Given the description of an element on the screen output the (x, y) to click on. 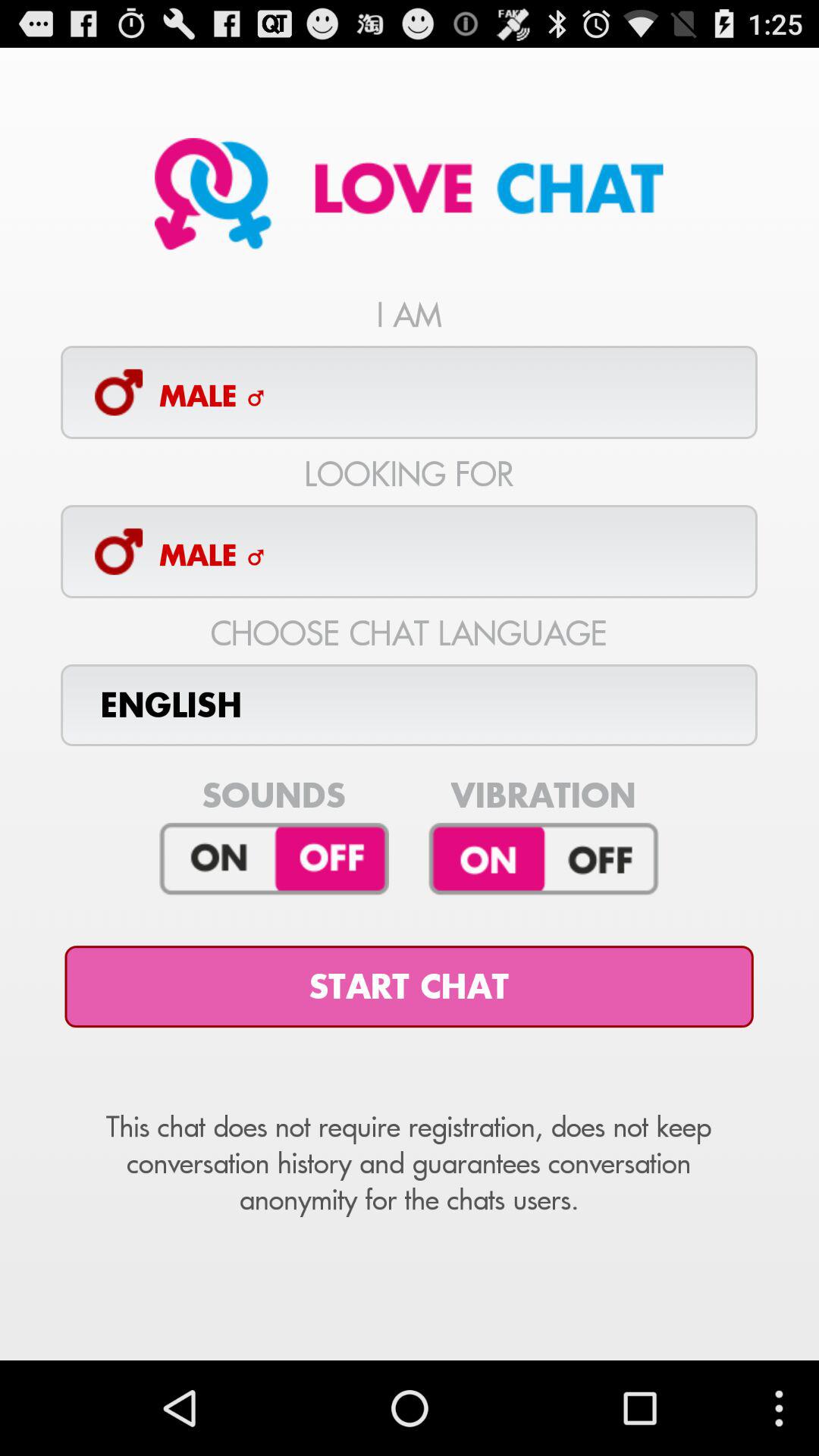
toggle sounds on or off option (274, 858)
